Given the description of an element on the screen output the (x, y) to click on. 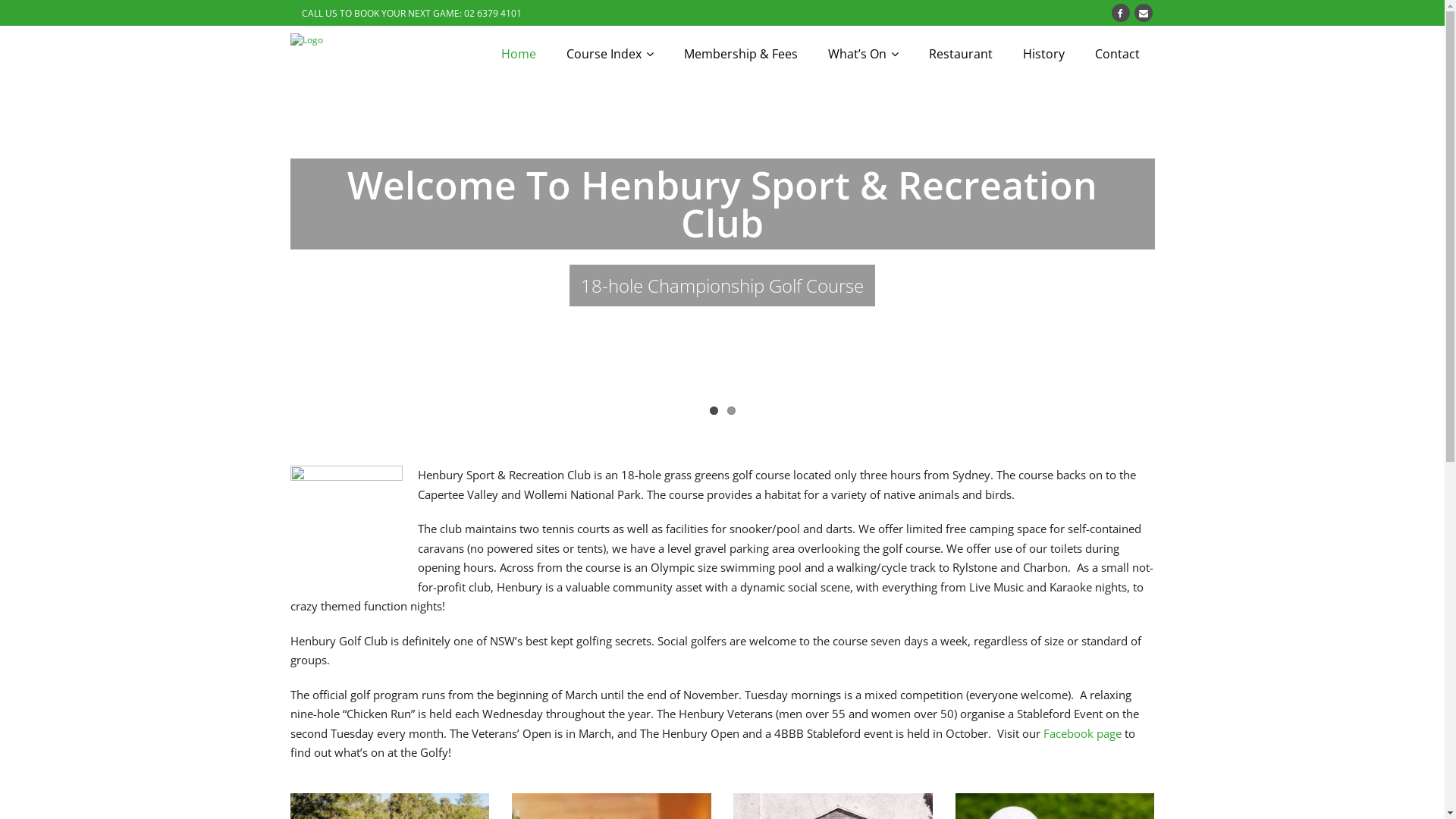
Restaurant Element type: text (960, 53)
History Element type: text (1043, 53)
CALL US TO BOOK YOUR NEXT GAME: 02 6379 4101 Element type: text (410, 12)
Facebook page Element type: text (1082, 732)
Membership & Fees Element type: text (740, 53)
Course Index Element type: text (609, 53)
1 Element type: text (713, 410)
Contact Element type: text (1116, 53)
2 Element type: text (730, 410)
Home Element type: text (517, 53)
